Given the description of an element on the screen output the (x, y) to click on. 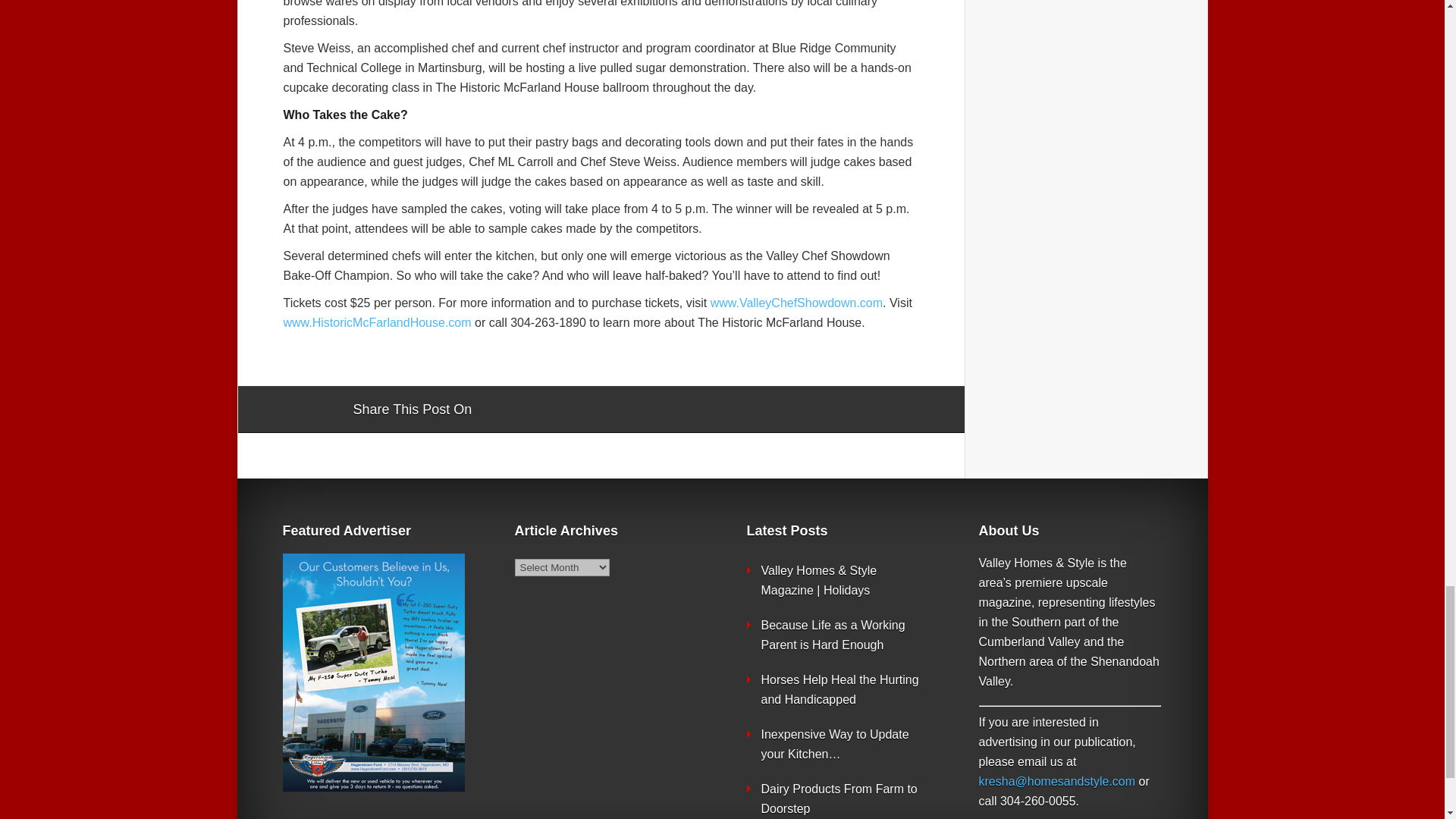
www.ValleyChefShowdown.com (796, 302)
Google (498, 410)
Horses Help Heal the Hurting and Handicapped (839, 689)
Facebook (526, 410)
www.HistoricMcFarlandHouse.com (377, 322)
Twitter (555, 410)
Dairy Products From Farm to Doorstep (839, 798)
Because Life as a Working Parent is Hard Enough (833, 635)
